Given the description of an element on the screen output the (x, y) to click on. 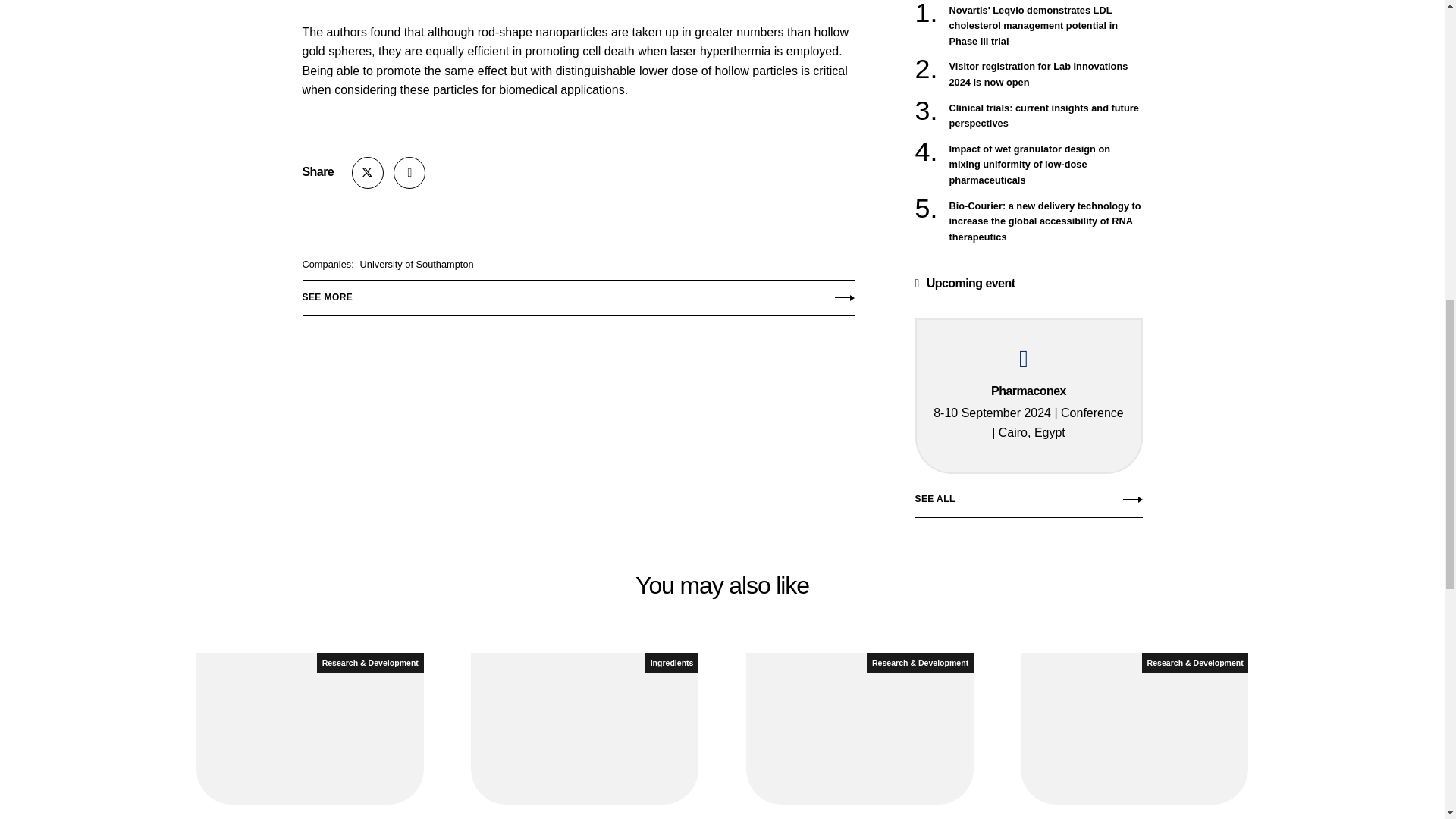
Visitor registration for Lab Innovations 2024 is now open (1045, 74)
Follow Manufacturing Chemist on X (368, 173)
SEE ALL (1027, 503)
Follow Manufacturing Chemist on LinkedIn (409, 173)
Clinical trials: current insights and future perspectives (1045, 115)
SEE MORE (577, 294)
New member joins UK chemistry academic partnership (309, 735)
X (368, 173)
